Given the description of an element on the screen output the (x, y) to click on. 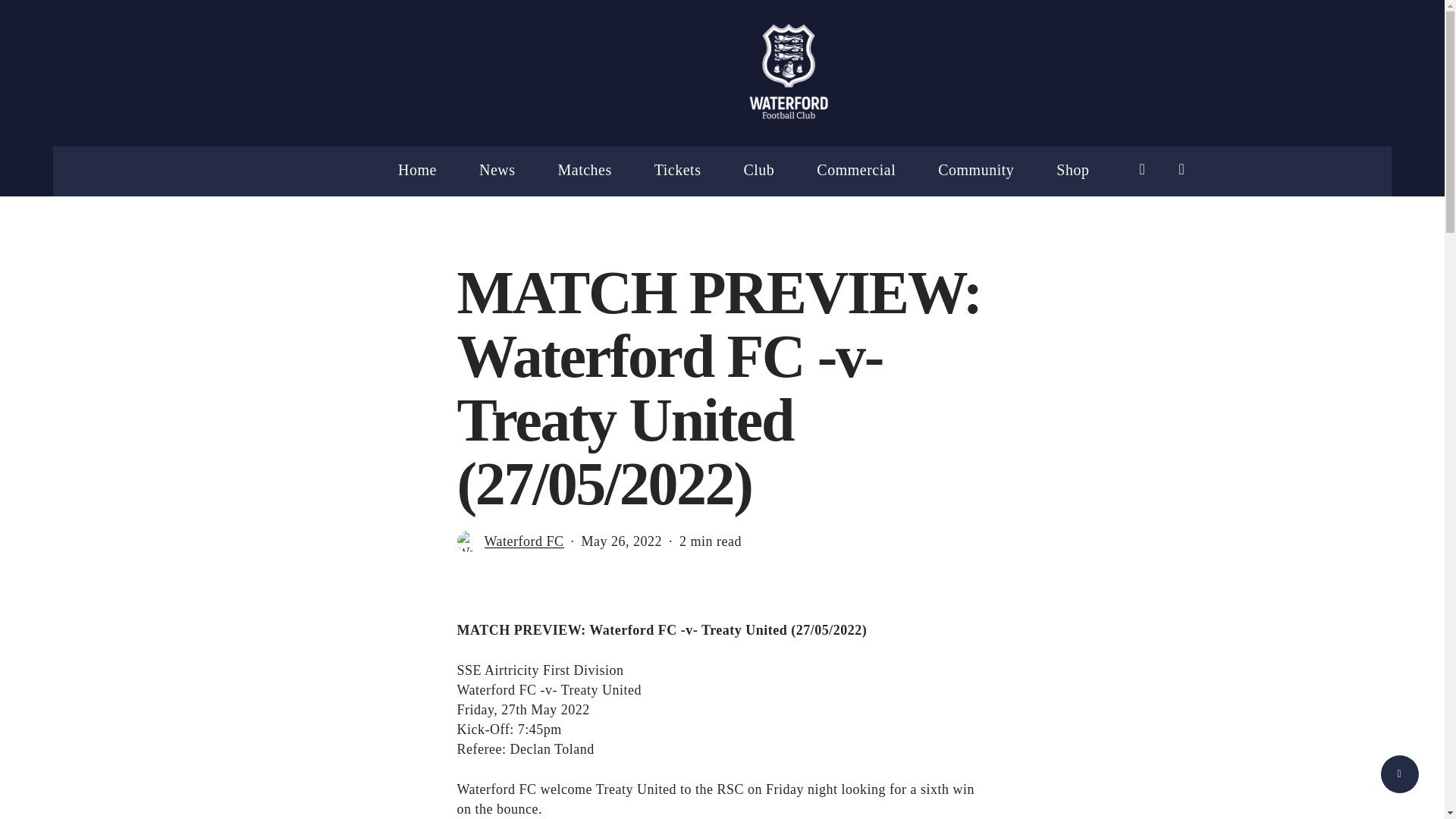
Posts by Waterford FC (523, 540)
search (1141, 169)
News (497, 169)
Tickets (677, 169)
Matches (584, 169)
account (1181, 169)
Waterford FC (523, 542)
Club (758, 169)
Home (416, 169)
Commercial (855, 169)
